Given the description of an element on the screen output the (x, y) to click on. 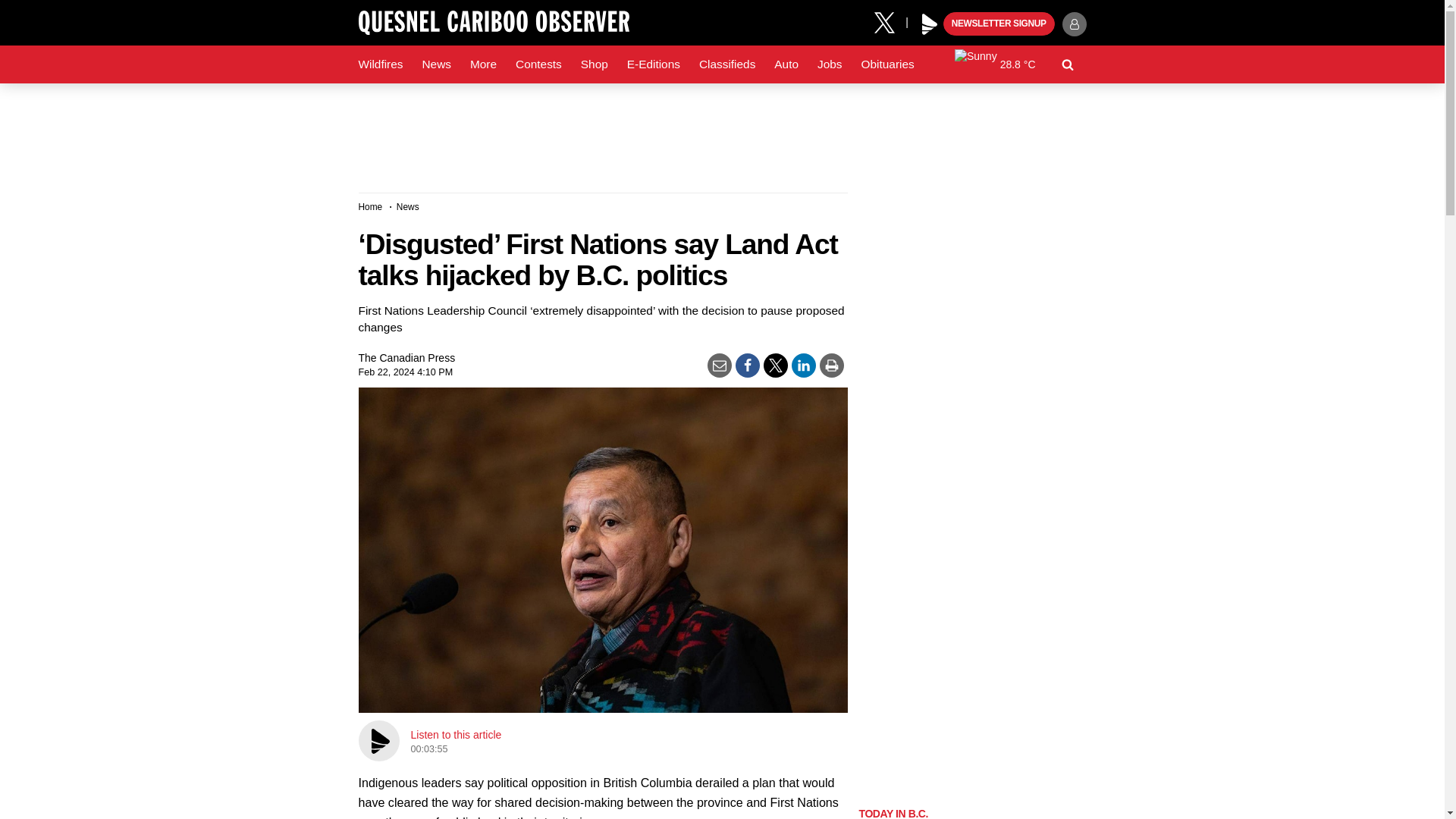
Black Press Media (929, 24)
Wildfires (380, 64)
X (889, 21)
Play (929, 24)
News (435, 64)
NEWSLETTER SIGNUP (998, 24)
